Given the description of an element on the screen output the (x, y) to click on. 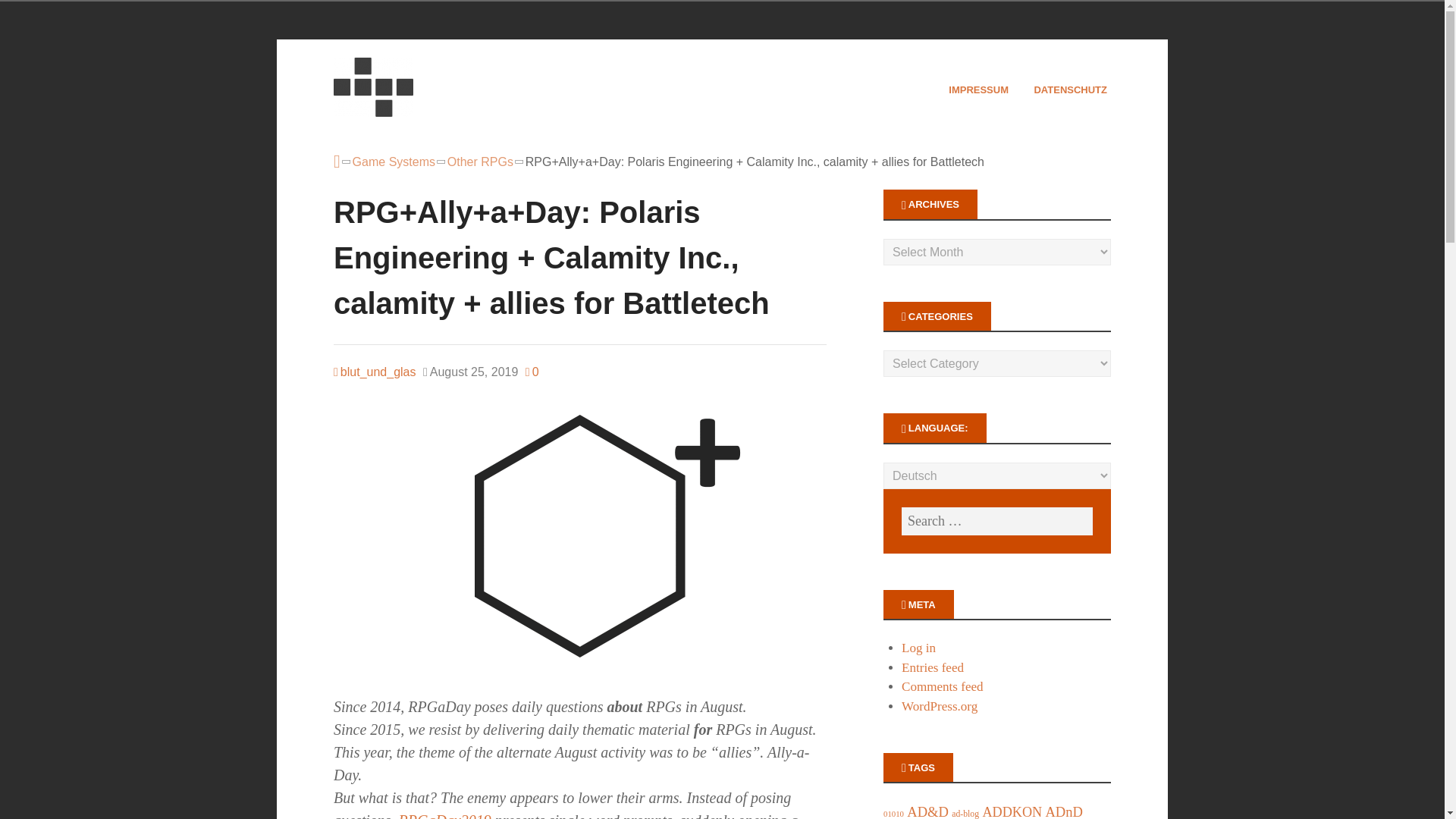
Game Systems (393, 162)
IMPRESSUM (980, 90)
Comments feed (942, 686)
WordPress.org (938, 706)
ad-blog (965, 814)
Log in (918, 647)
RPGaDay2019 (445, 815)
Sunday, August 25, 2019, 9:30 pm (470, 372)
Search (30, 15)
Entries feed (932, 667)
